Given the description of an element on the screen output the (x, y) to click on. 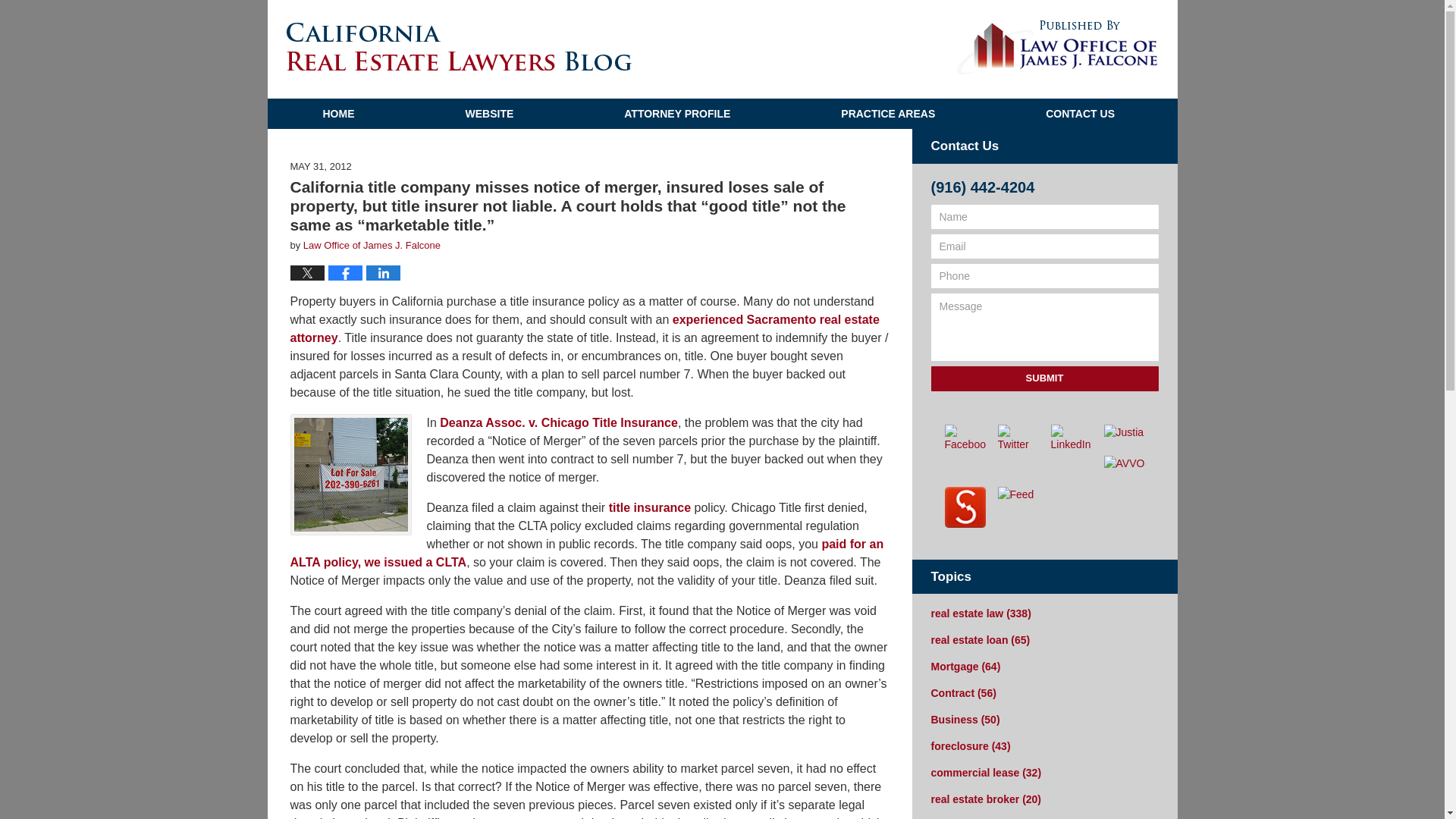
Twitter (1018, 438)
Justia (1123, 432)
SUBMIT (1044, 377)
AVVO (1123, 463)
CONTACT US (1080, 113)
LinkedIn (1071, 438)
JDSupra (965, 506)
California Real Estate Lawyers Blog (458, 46)
Deanza Assoc. v. Chicago Title Insurance (558, 422)
experienced Sacramento real estate attorney (584, 327)
